Given the description of an element on the screen output the (x, y) to click on. 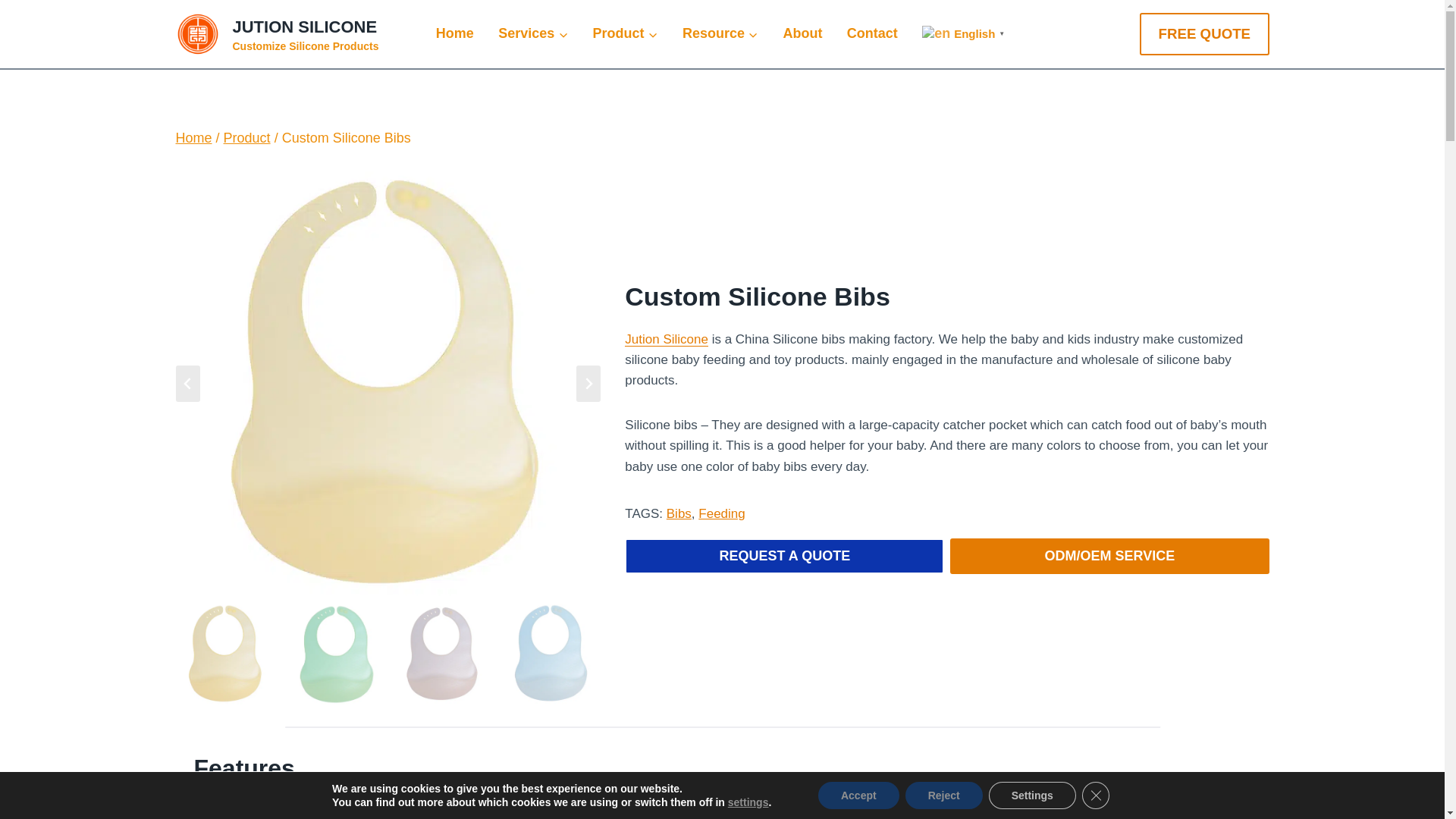
Jution Silicone (277, 34)
Product (665, 339)
food-grade (624, 33)
Home (534, 808)
Services (454, 33)
Resource (532, 33)
